Given the description of an element on the screen output the (x, y) to click on. 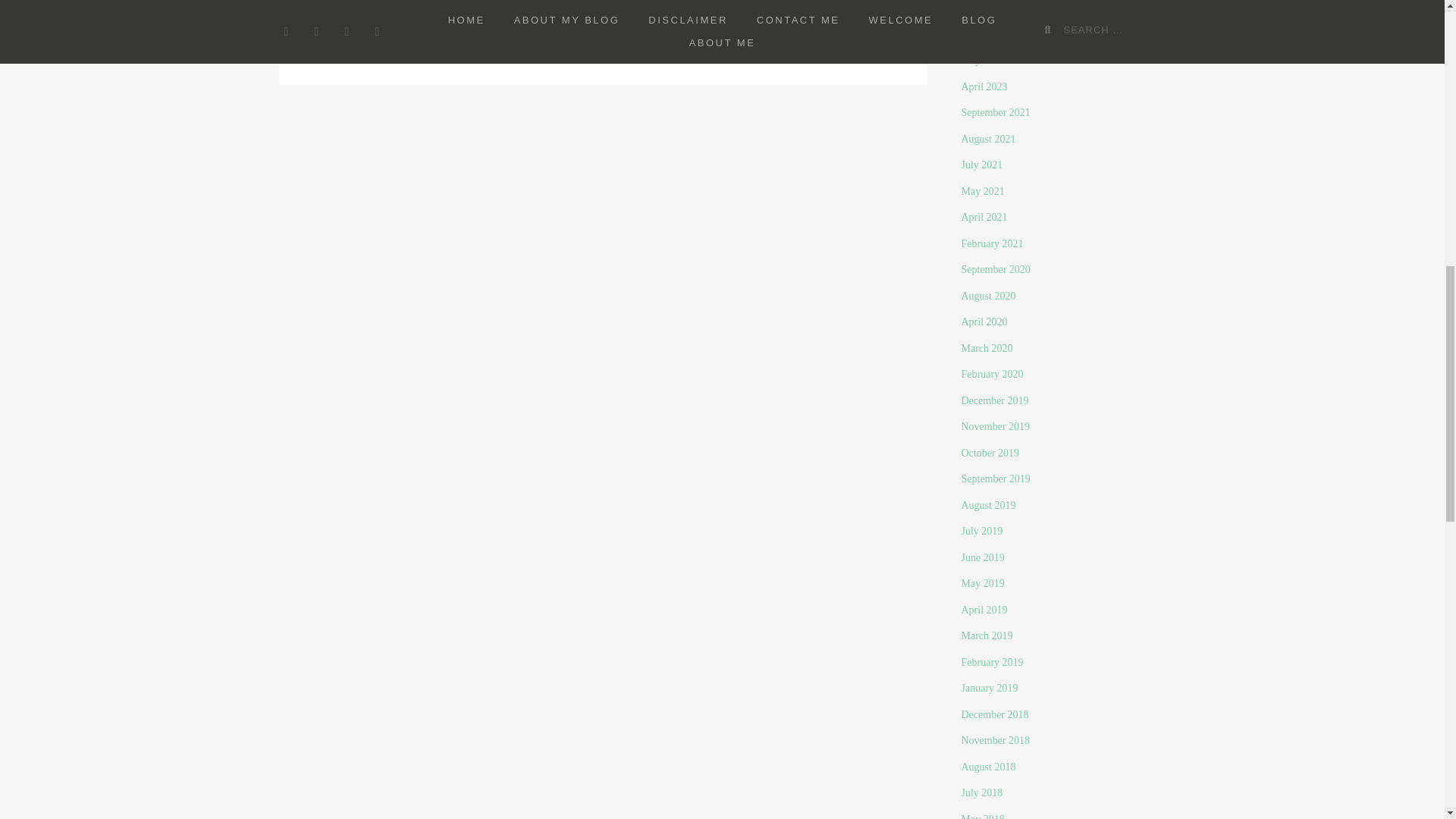
February 2021 (991, 243)
May 2023 (982, 60)
June 2023 (982, 34)
April 2023 (983, 86)
September 2021 (995, 112)
July 2021 (981, 164)
April 2020 (983, 321)
September 2020 (995, 269)
August 2021 (988, 138)
May 2021 (982, 191)
